Given the description of an element on the screen output the (x, y) to click on. 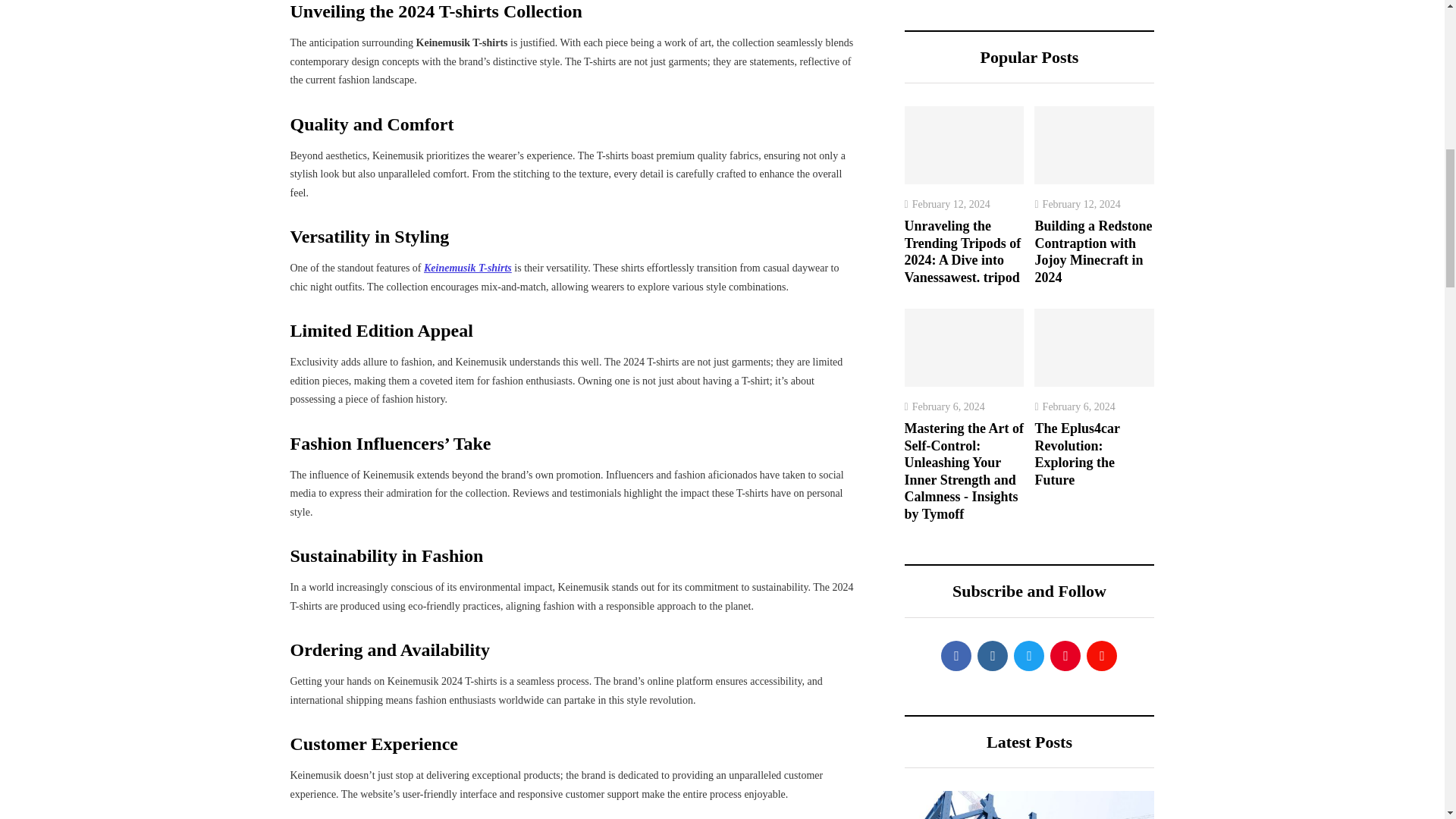
Keinemusik T-shirts (467, 267)
